Given the description of an element on the screen output the (x, y) to click on. 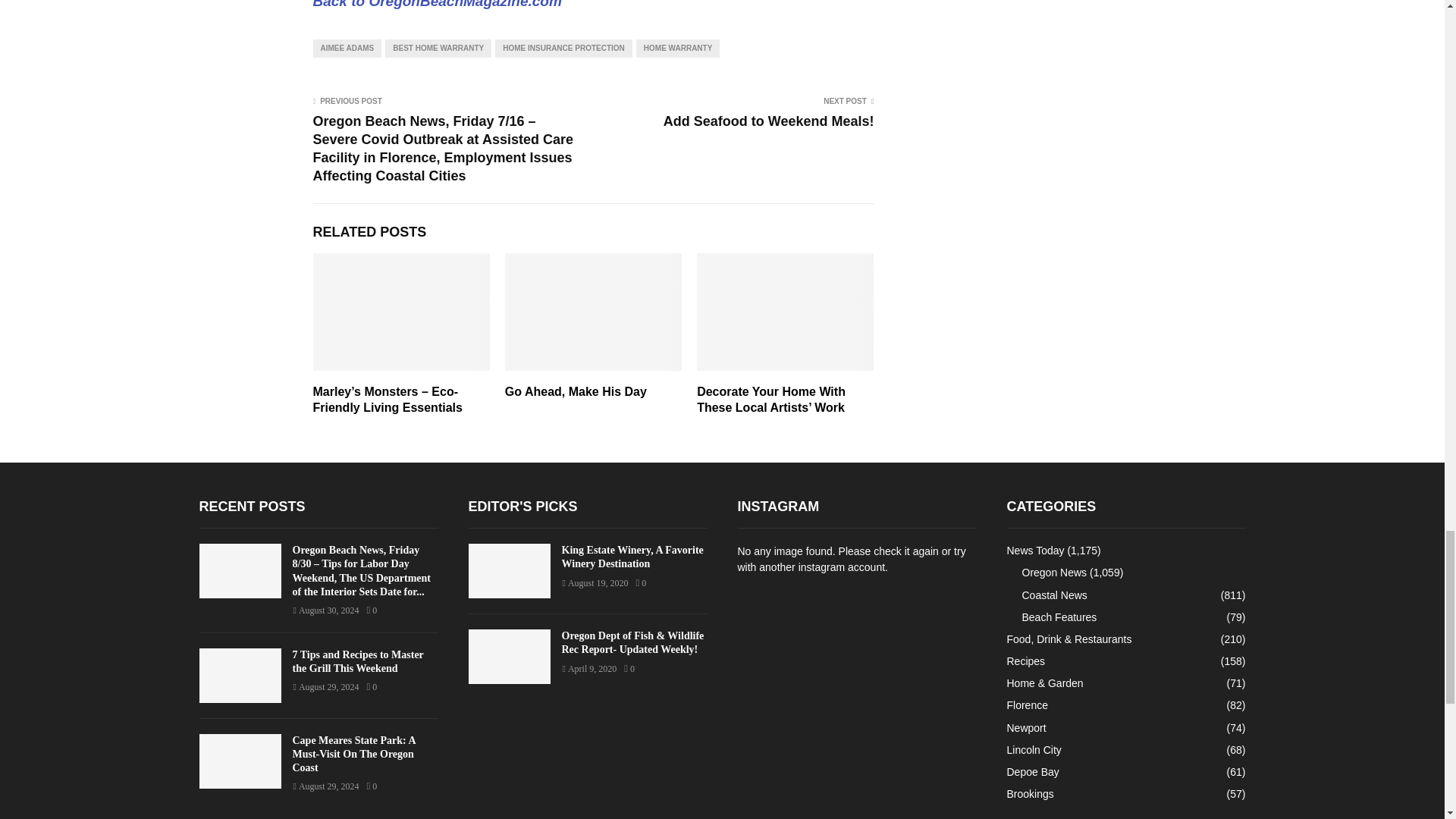
7 Tips and Recipes to Master the Grill This Weekend (239, 675)
 7 Tips and Recipes to Master the Grill This Weekend  (357, 661)
Cape Meares State Park: A Must-Visit On The Oregon Coast (239, 760)
King Estate Winery, A Favorite Winery Destination (509, 570)
 Cape Meares State Park: A Must-Visit On The Oregon Coast  (353, 753)
 King Estate Winery, A Favorite Winery Destination  (631, 556)
